Given the description of an element on the screen output the (x, y) to click on. 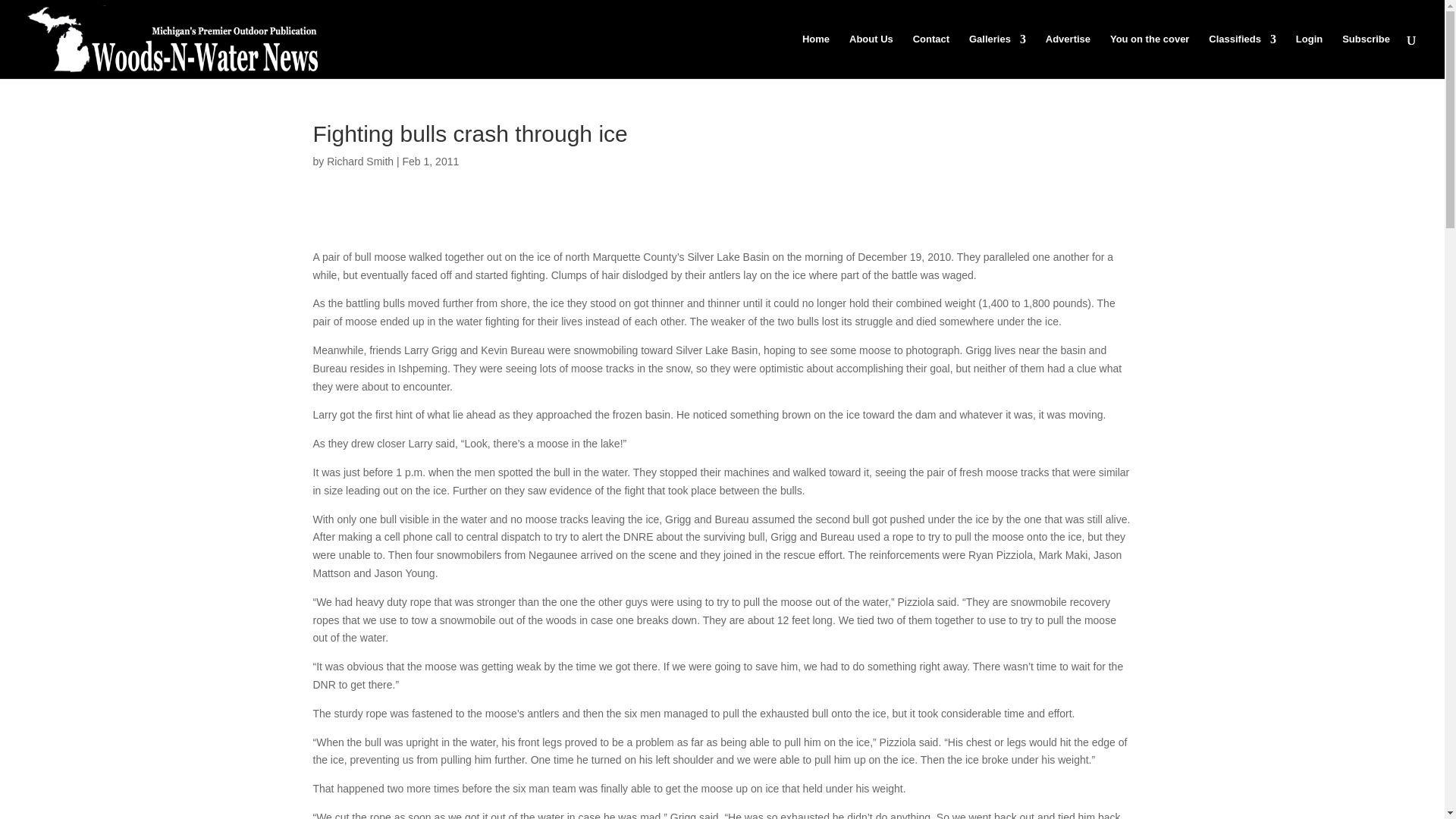
About Us (870, 56)
Advertise (1067, 56)
Galleries (997, 56)
Subscribe (1366, 56)
You on the cover (1149, 56)
Classifieds (1242, 56)
Richard Smith (359, 161)
